Given the description of an element on the screen output the (x, y) to click on. 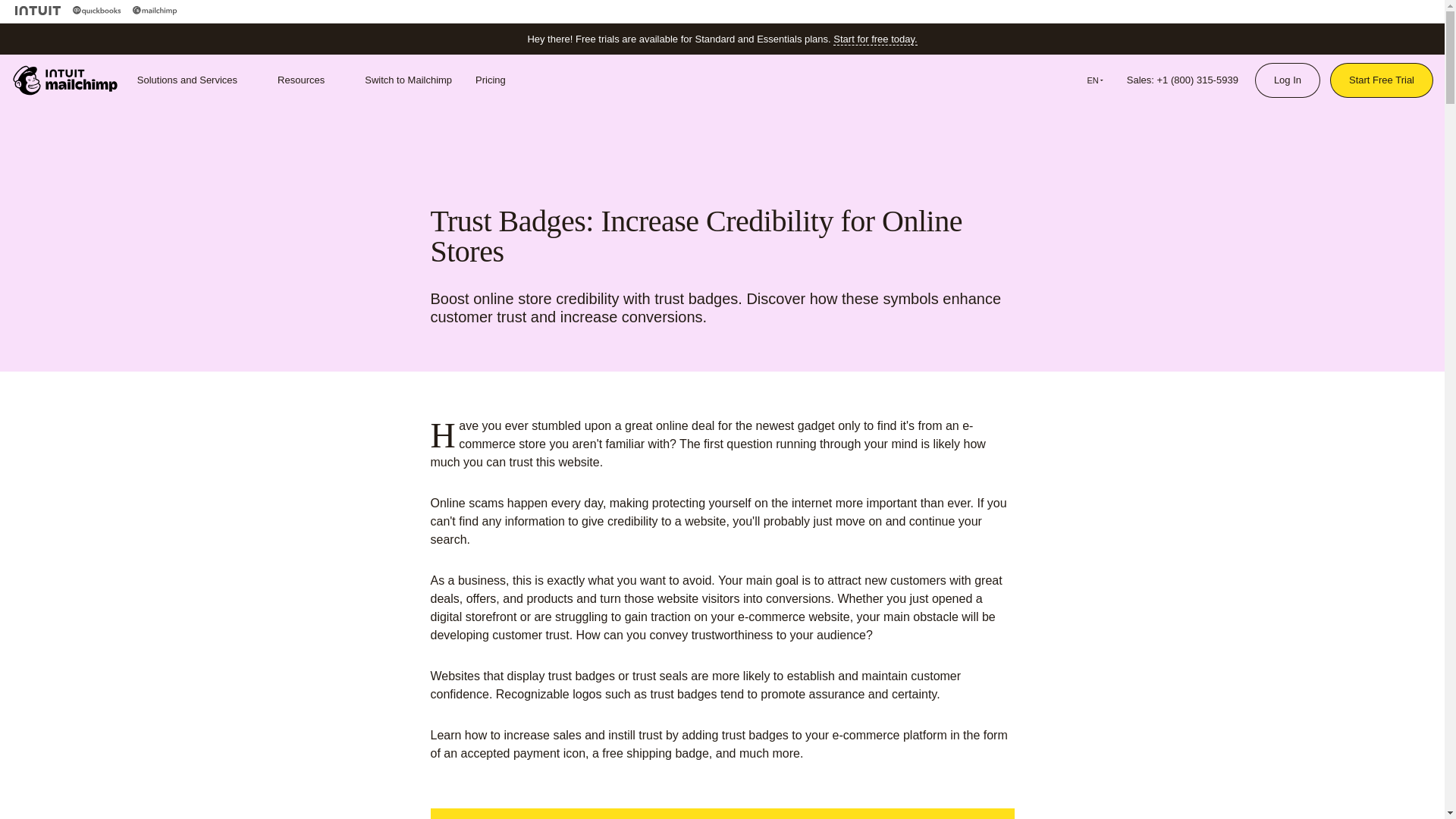
Pricing (490, 79)
Solutions and Services (195, 79)
Start Free Trial (1381, 80)
Start for free today. (874, 39)
Search (1038, 80)
Resources (308, 79)
Log In (1287, 80)
Switch to Mailchimp (408, 79)
